Given the description of an element on the screen output the (x, y) to click on. 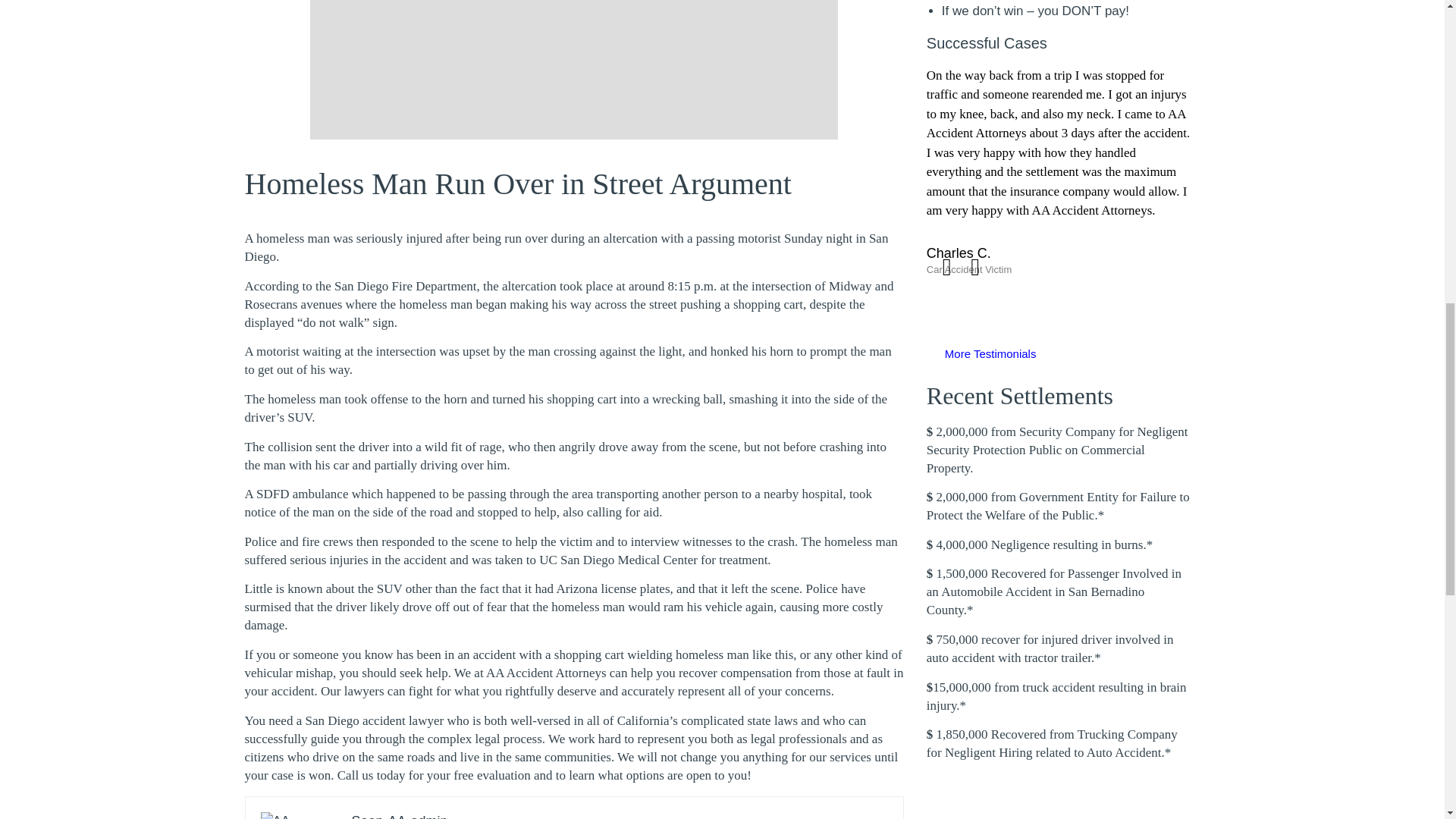
More Testimonials (990, 353)
Sean-AA-admin (400, 816)
AA Accident Attorneys (546, 672)
Homeless Man Run Over in Street Argument (517, 183)
San Diego accident lawyer (374, 720)
